Given the description of an element on the screen output the (x, y) to click on. 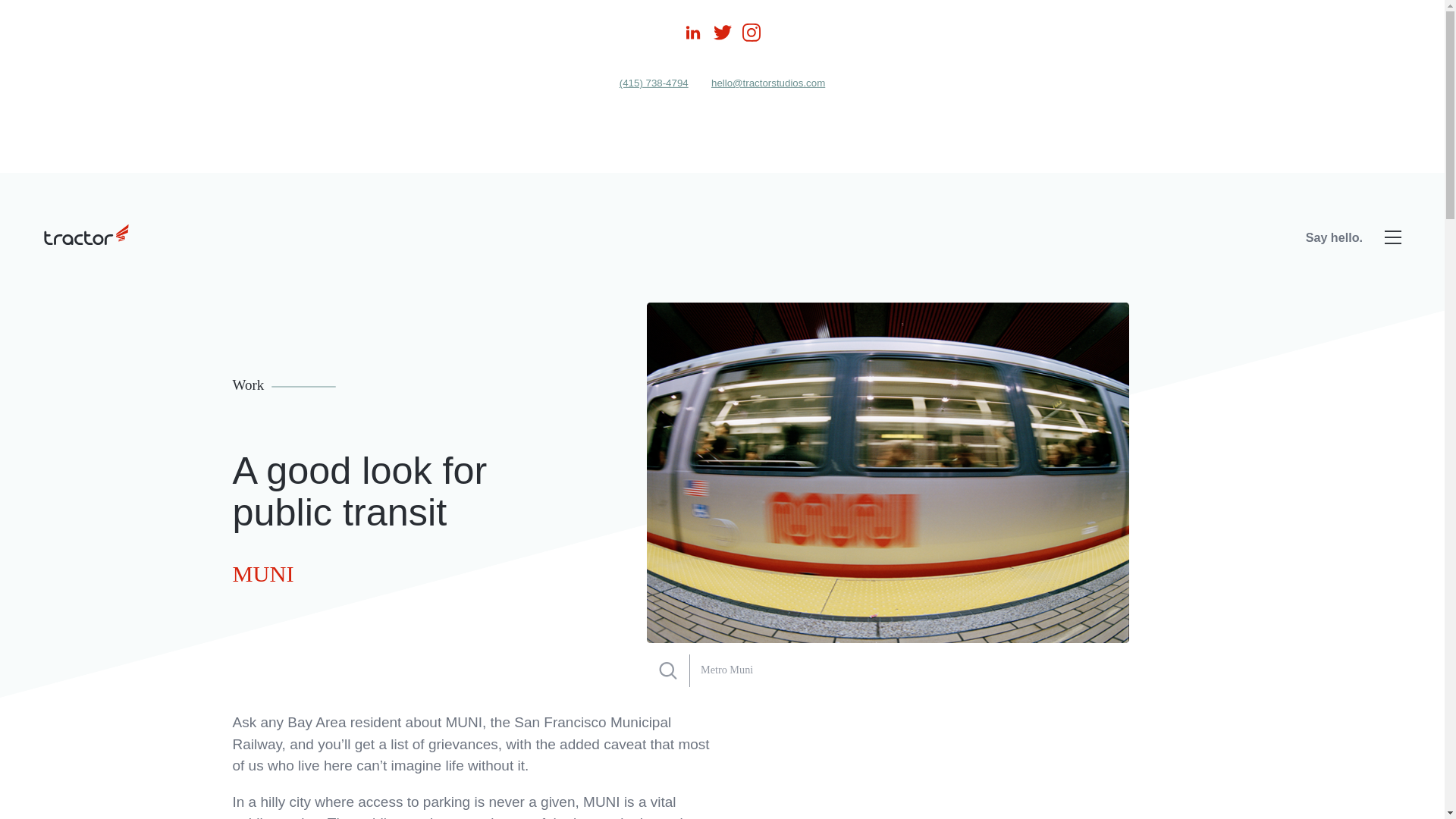
Work (283, 384)
Say hello. (1334, 237)
